Given the description of an element on the screen output the (x, y) to click on. 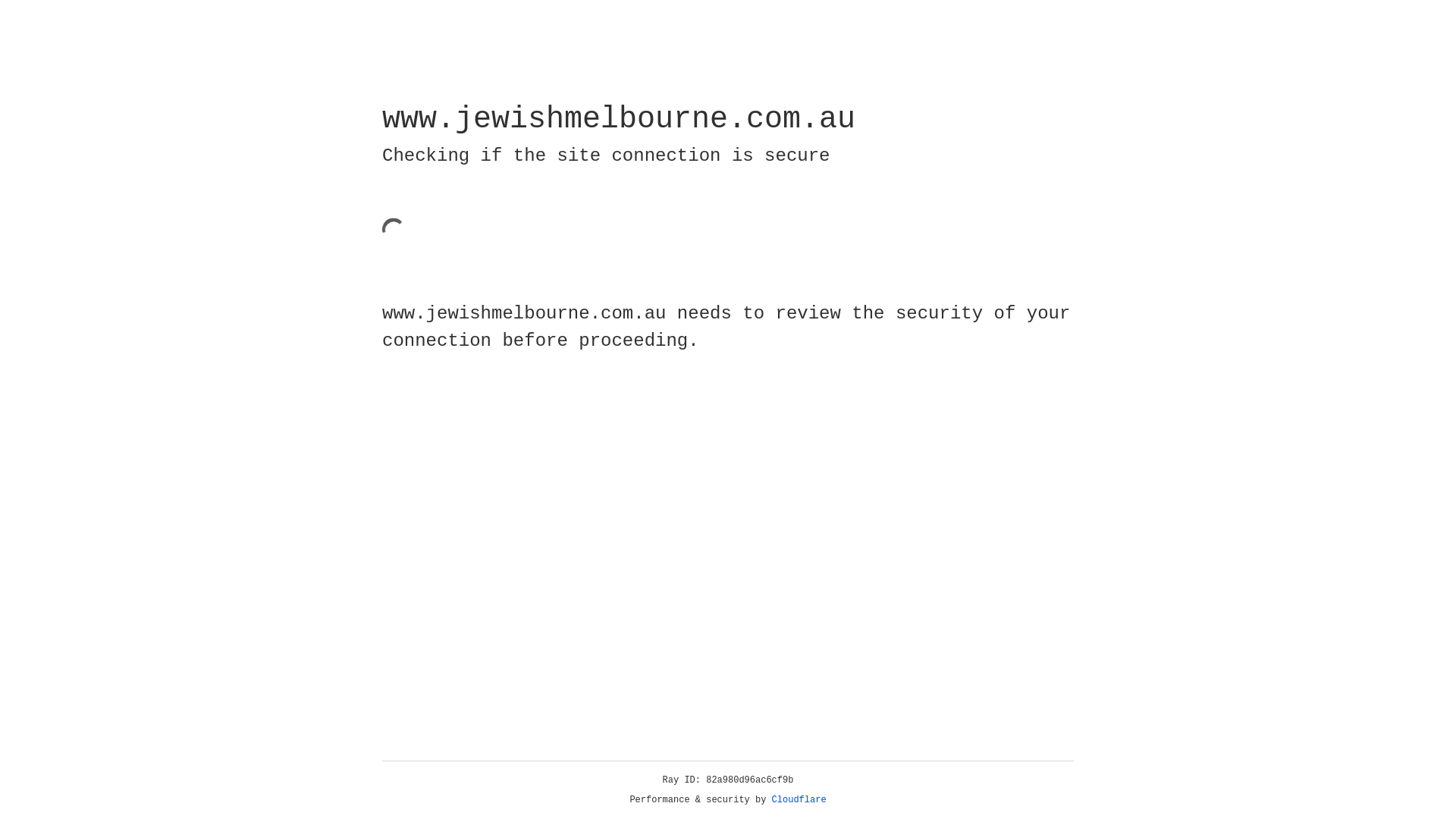
Cloudflare Element type: text (798, 799)
